Given the description of an element on the screen output the (x, y) to click on. 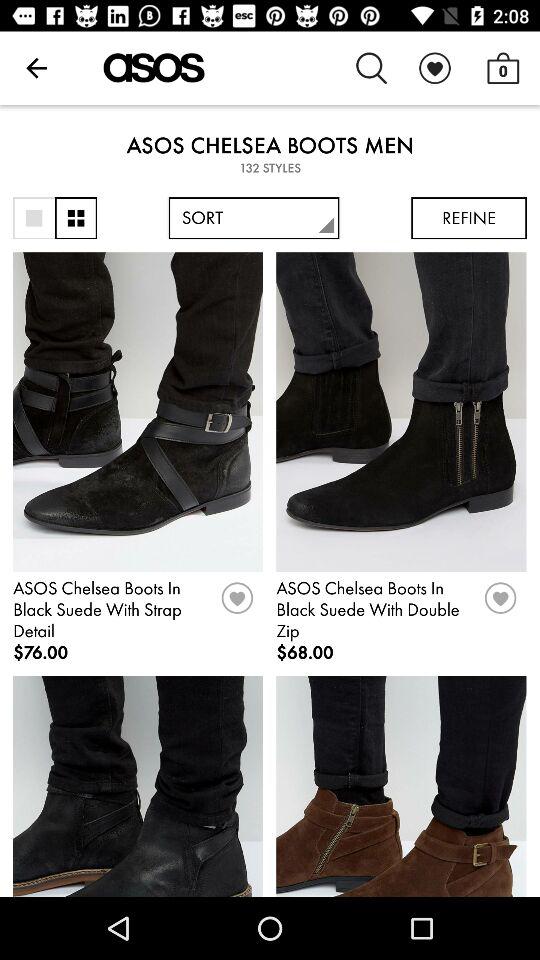
turn on item to the left of the 0 item (434, 67)
